Given the description of an element on the screen output the (x, y) to click on. 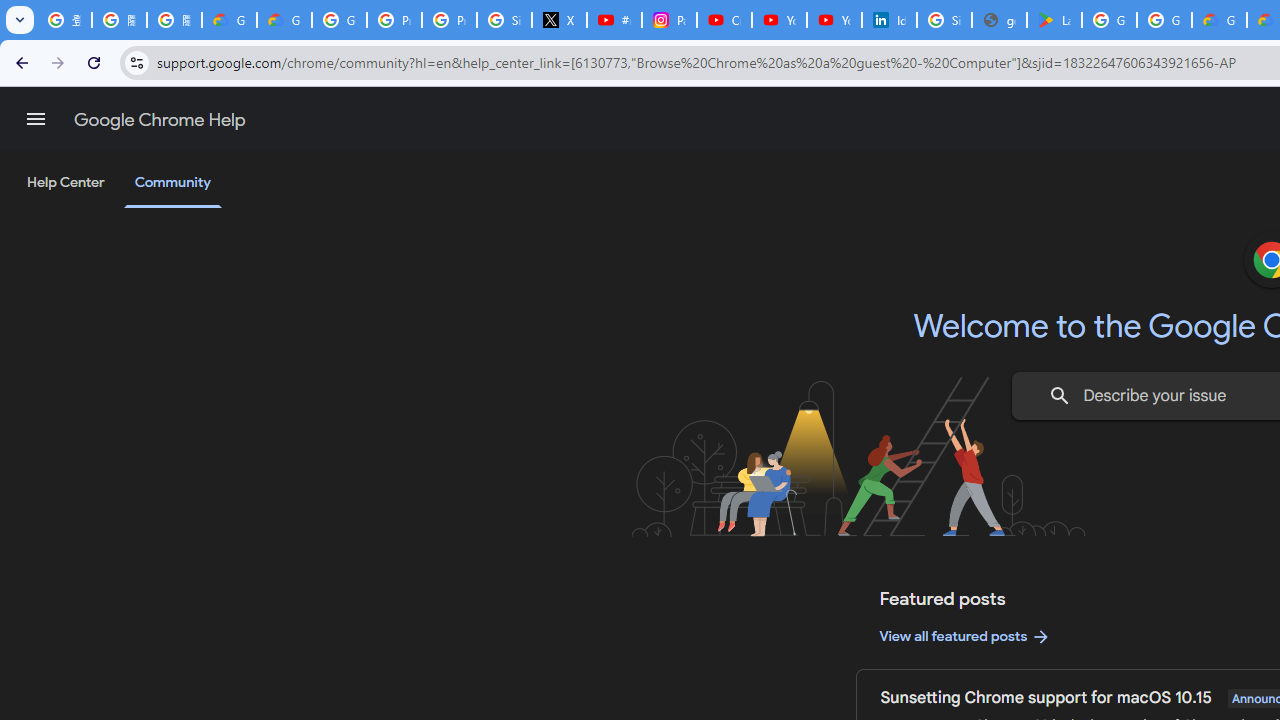
Help Center (65, 183)
Sign in - Google Accounts (943, 20)
Search tabs (20, 20)
Government | Google Cloud (1218, 20)
Privacy Help Center - Policies Help (394, 20)
